Given the description of an element on the screen output the (x, y) to click on. 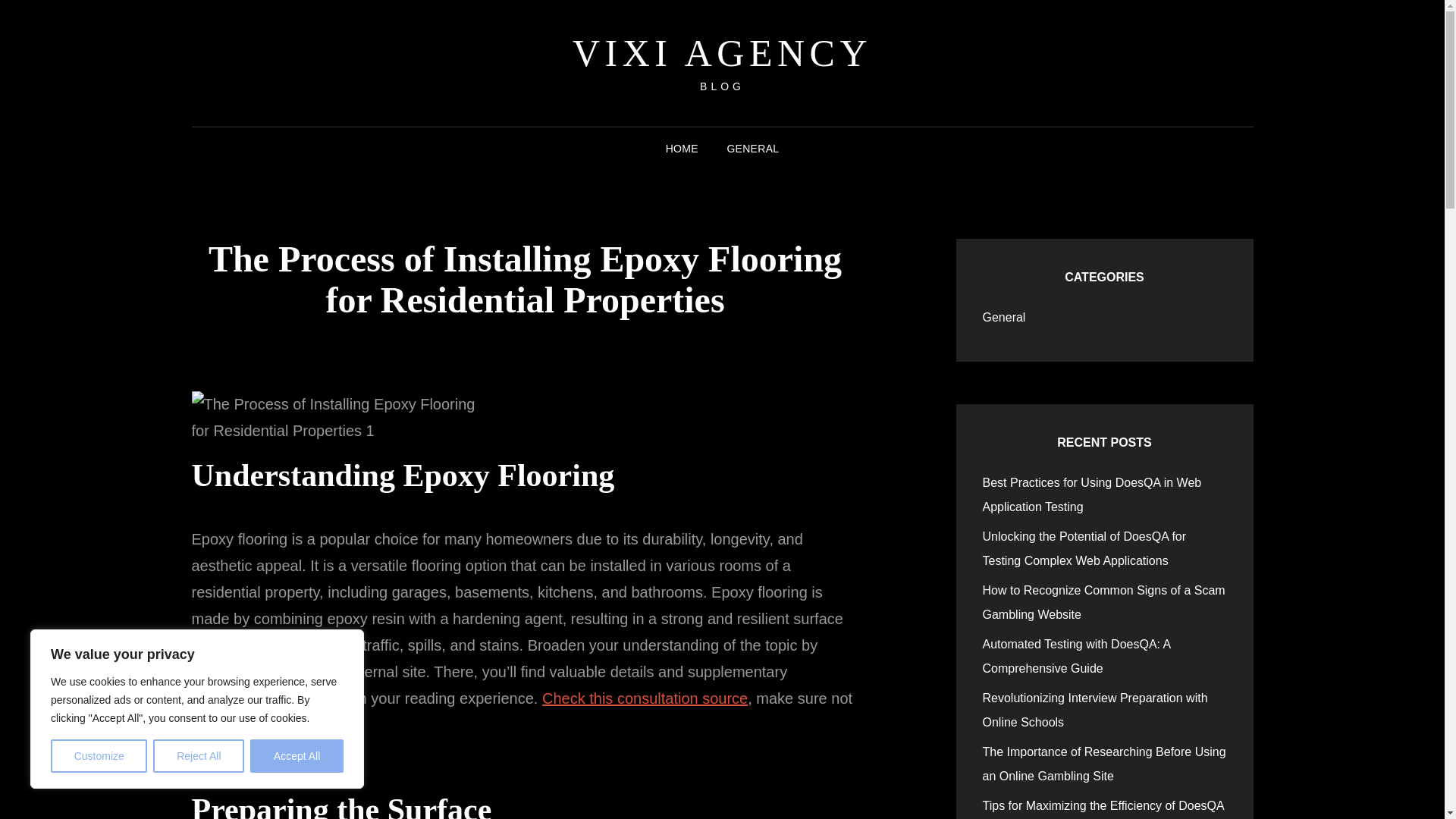
Best Practices for Using DoesQA in Web Application Testing (1092, 494)
Check this consultation source (644, 698)
GENERAL (752, 148)
How to Recognize Common Signs of a Scam Gambling Website (1103, 601)
VIXI AGENCY (722, 52)
Revolutionizing Interview Preparation with Online Schools (1095, 709)
Automated Testing with DoesQA: A Comprehensive Guide (1076, 656)
General (1004, 317)
